Given the description of an element on the screen output the (x, y) to click on. 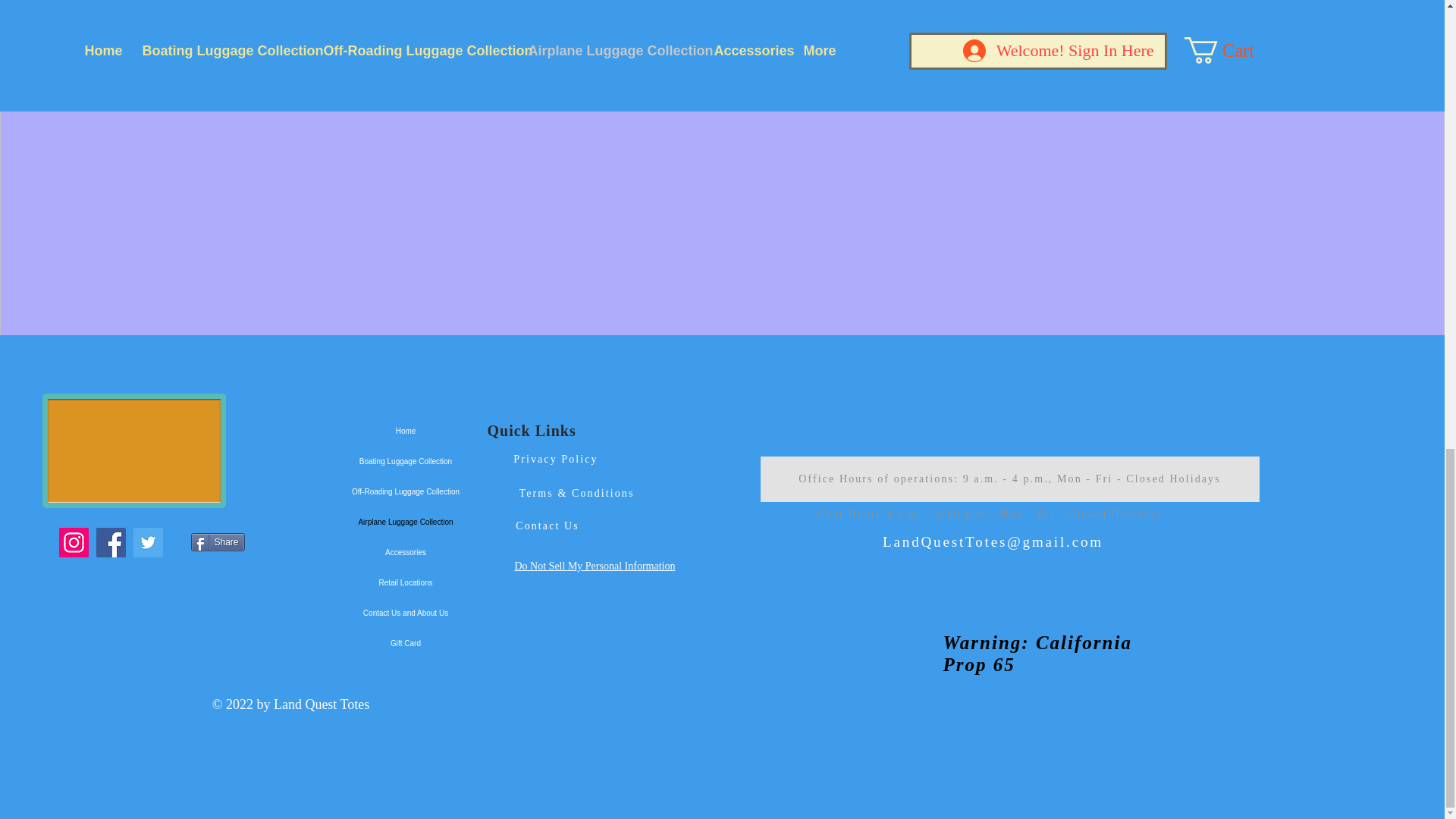
Do Not Sell My Personal Information (594, 566)
Contact Us and About Us (405, 613)
Off-Roading Luggage Collection (405, 491)
Contact Us (546, 525)
Privacy Policy (557, 458)
Gift Card (405, 643)
Share (217, 542)
Home (405, 431)
Boating Luggage Collection (405, 461)
Airplane Luggage Collection (405, 521)
